Given the description of an element on the screen output the (x, y) to click on. 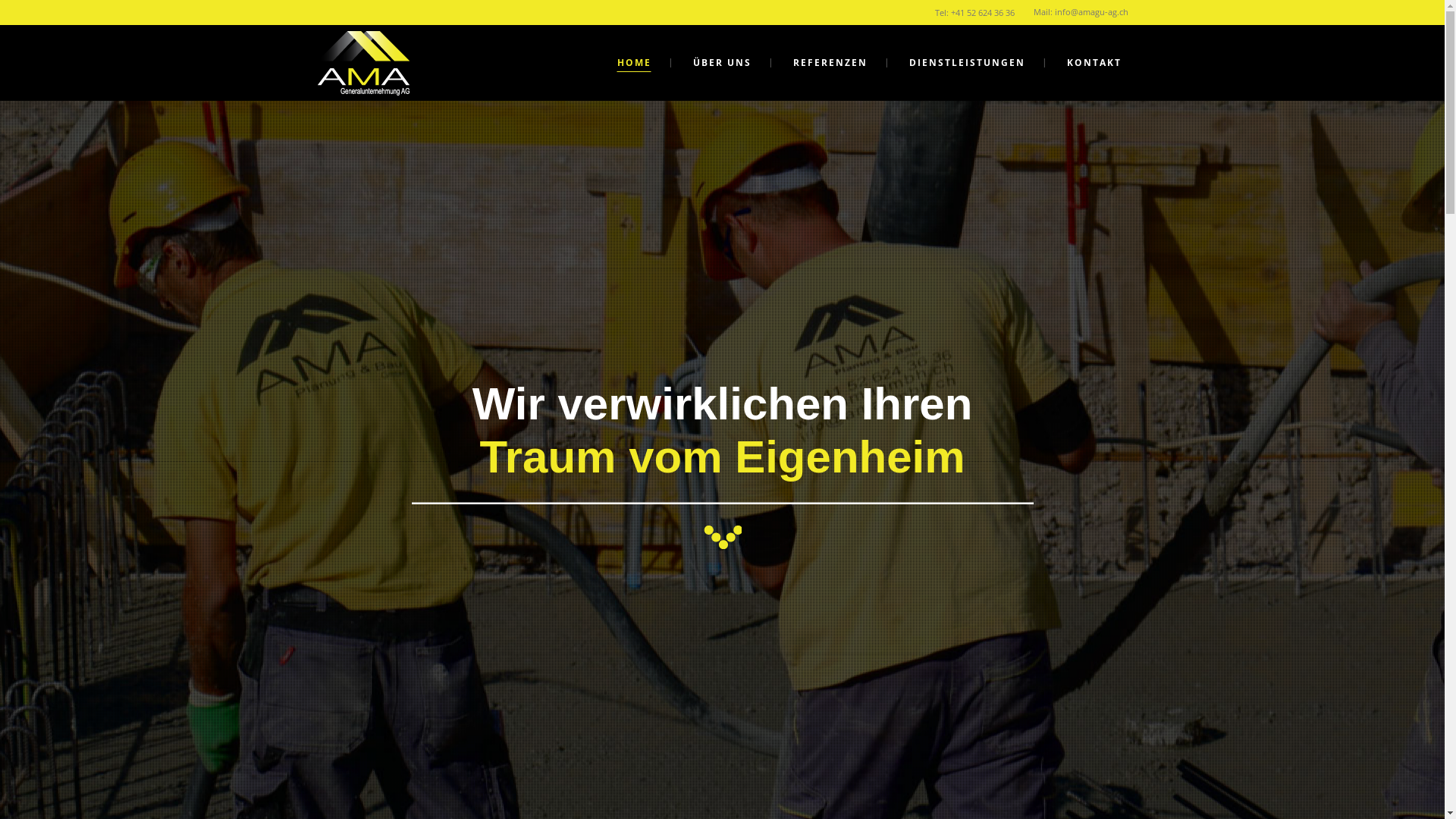
KONTAKT Element type: text (1093, 62)
REFERENZEN Element type: text (830, 62)
DIENSTLEISTUNGEN Element type: text (966, 62)
HOME Element type: text (634, 62)
